Given the description of an element on the screen output the (x, y) to click on. 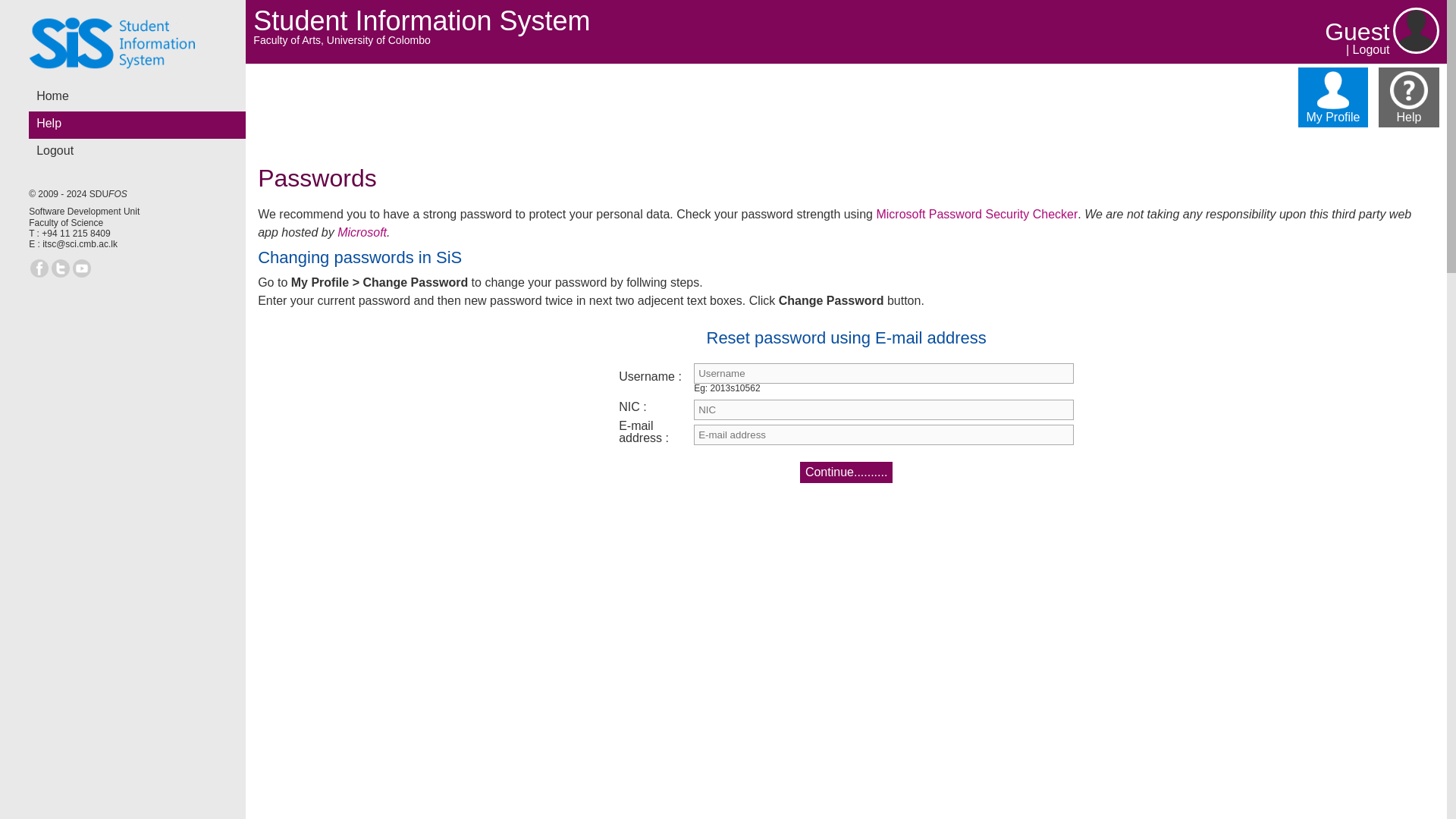
Faculty of Science (66, 222)
Help (141, 124)
????????? (884, 409)
Call ITSC (76, 233)
20??s????? (884, 373)
My Profile (1332, 97)
Home (141, 97)
Logout (141, 152)
Continue.......... (846, 472)
Mail ITSC (79, 244)
No profile picture (1416, 30)
Microsoft Password Security Checker (976, 214)
Student Information System (115, 42)
Log Out (1371, 49)
Logout (1371, 49)
